Given the description of an element on the screen output the (x, y) to click on. 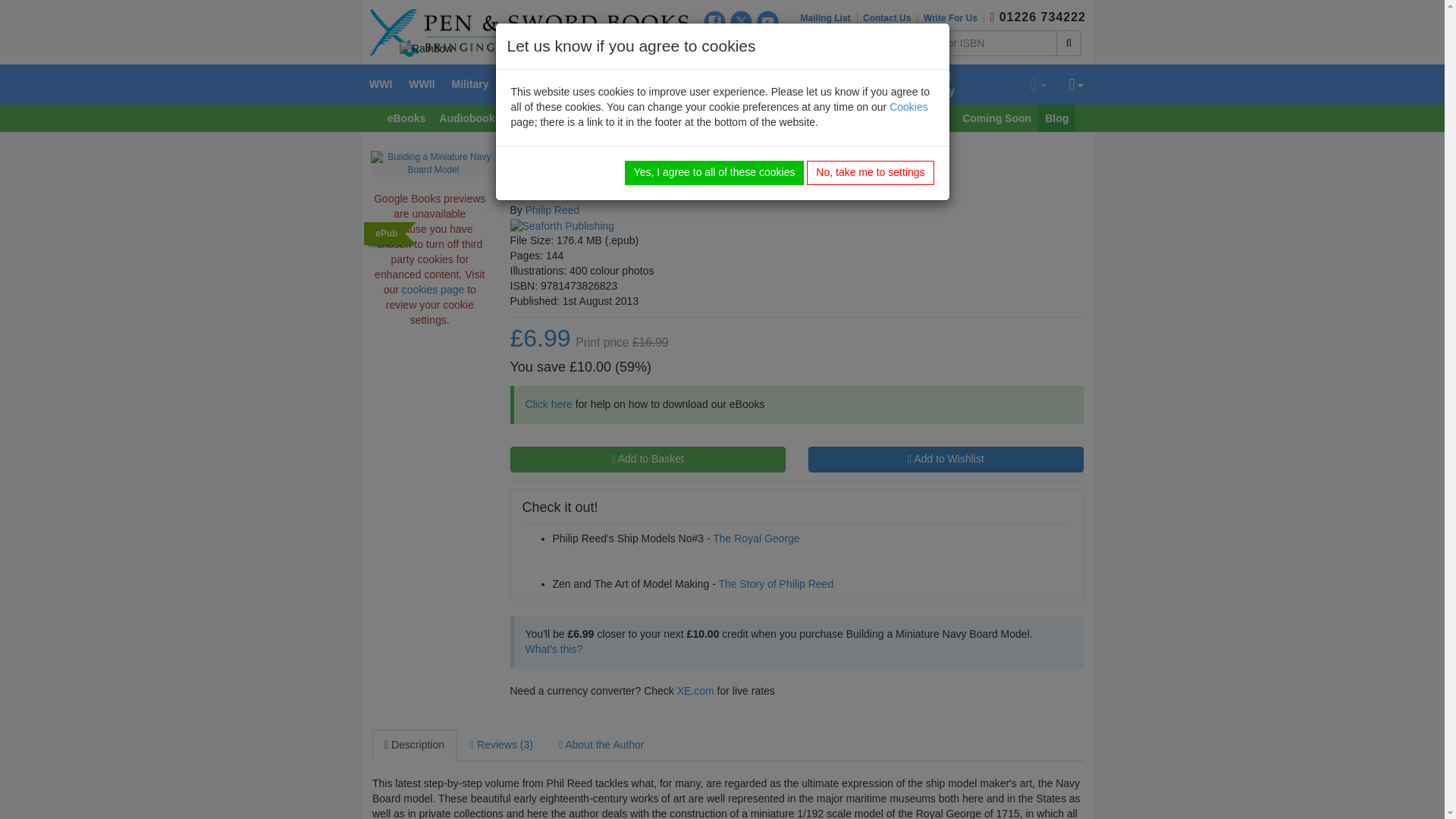
TikTok (745, 47)
Instagram (714, 45)
X (741, 21)
YouTube (767, 21)
Mailing List (828, 18)
Write For Us (953, 18)
Facebook (714, 21)
Contact Us (890, 18)
